Given the description of an element on the screen output the (x, y) to click on. 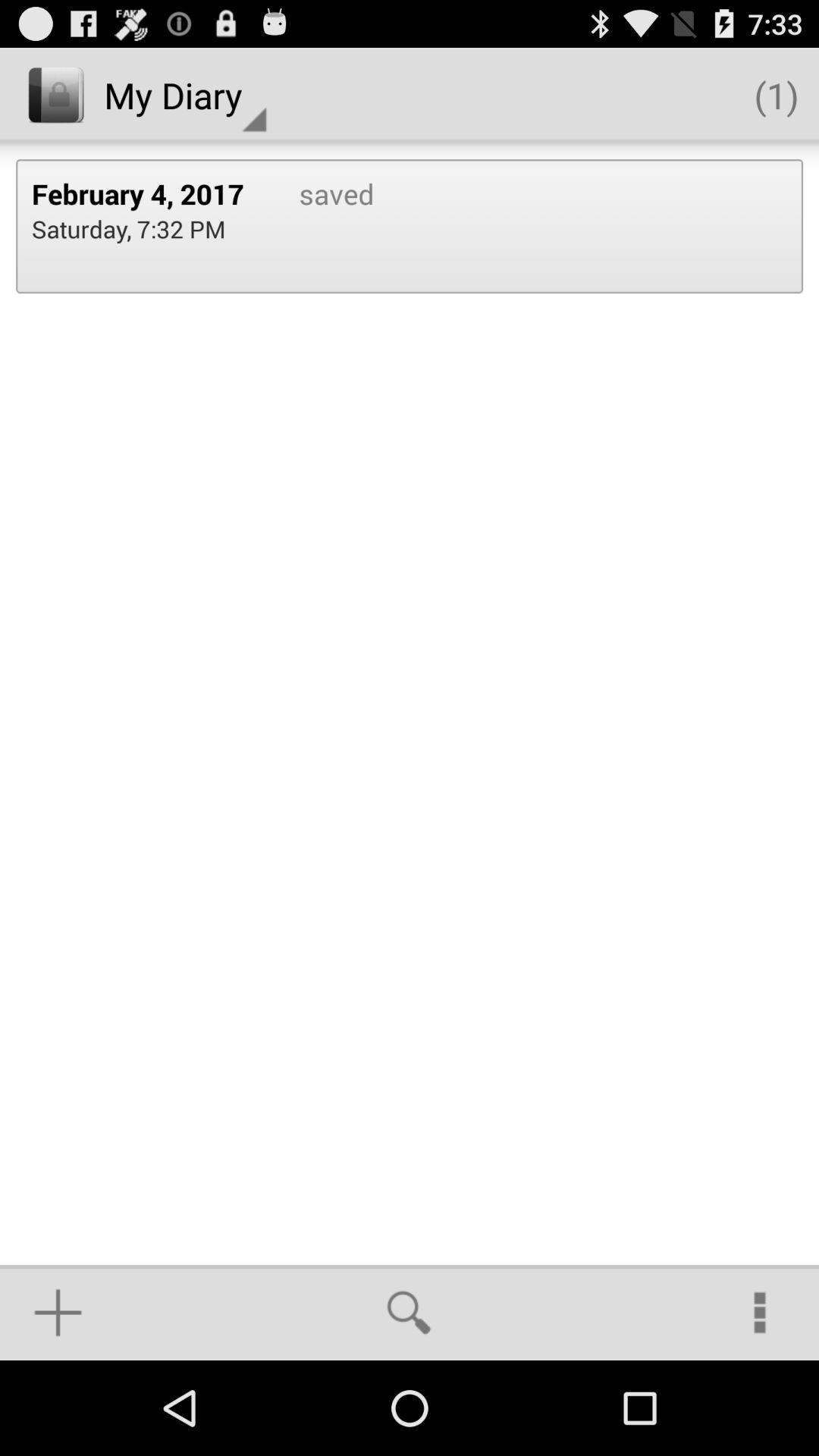
select the item above february 4, 2017 (185, 95)
